Given the description of an element on the screen output the (x, y) to click on. 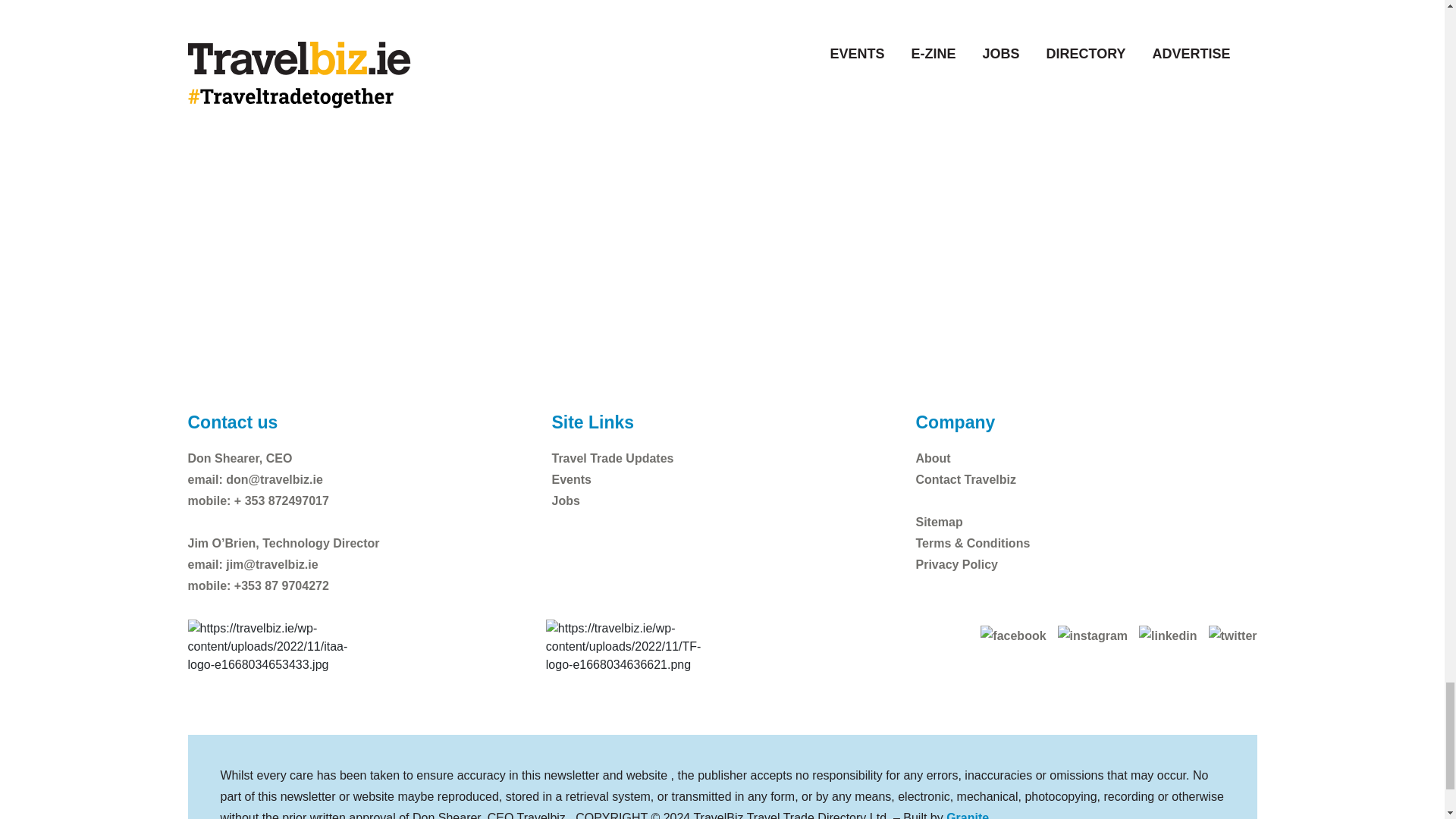
Travel Trade Updates (611, 458)
Events (571, 479)
Read more (617, 100)
Jobs (565, 500)
Read more (254, 100)
Read more (981, 100)
